Given the description of an element on the screen output the (x, y) to click on. 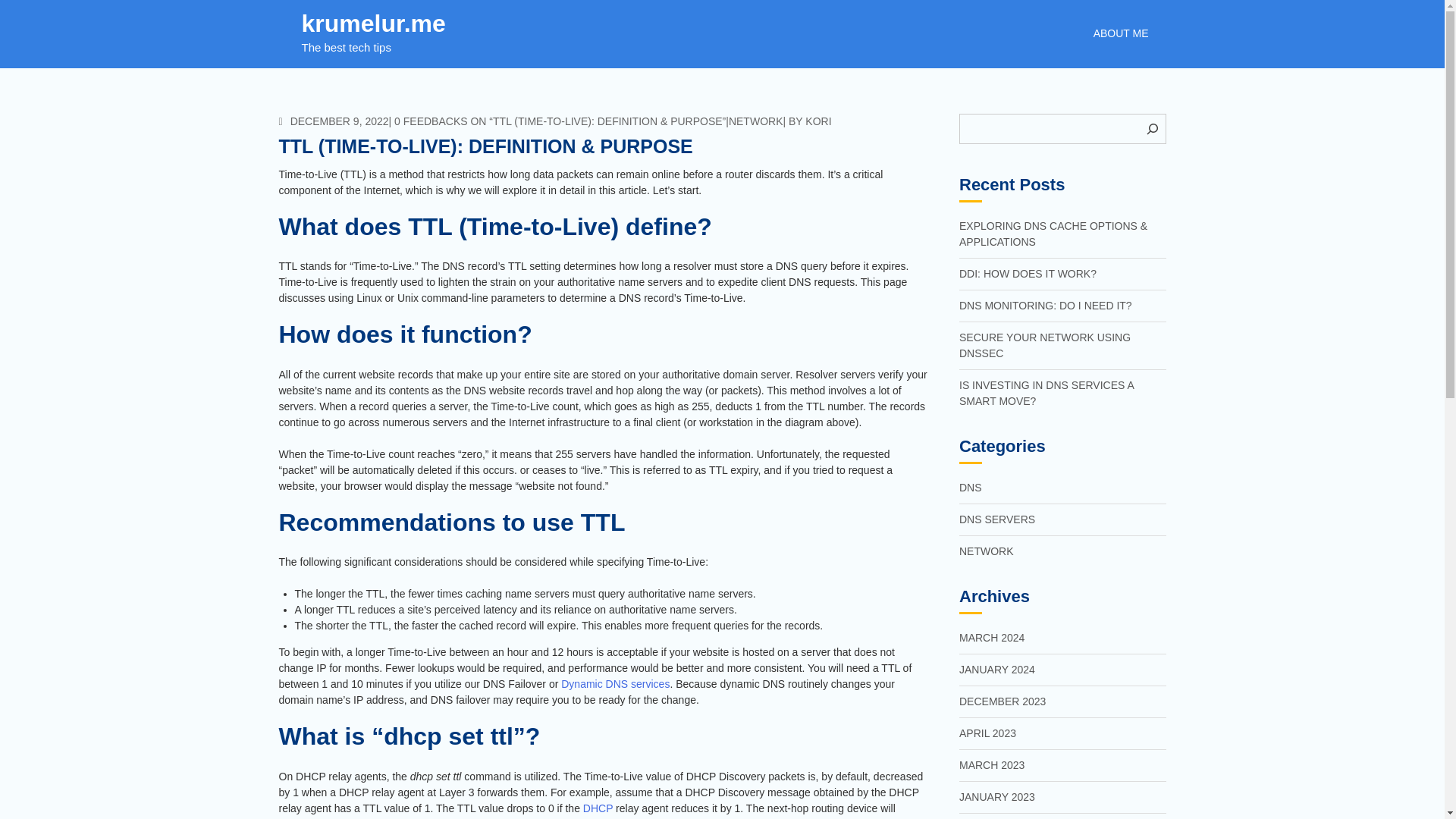
DNS MONITORING: DO I NEED IT? (1045, 305)
Dynamic DNS services (614, 684)
KORI (818, 121)
krumelur.me (373, 22)
DECEMBER 9, 2022 (333, 121)
ABOUT ME (1120, 33)
SECURE YOUR NETWORK USING DNSSEC (1045, 345)
DNS SERVERS (997, 519)
IS INVESTING IN DNS SERVICES A SMART MOVE? (1046, 393)
DHCP (597, 808)
